Given the description of an element on the screen output the (x, y) to click on. 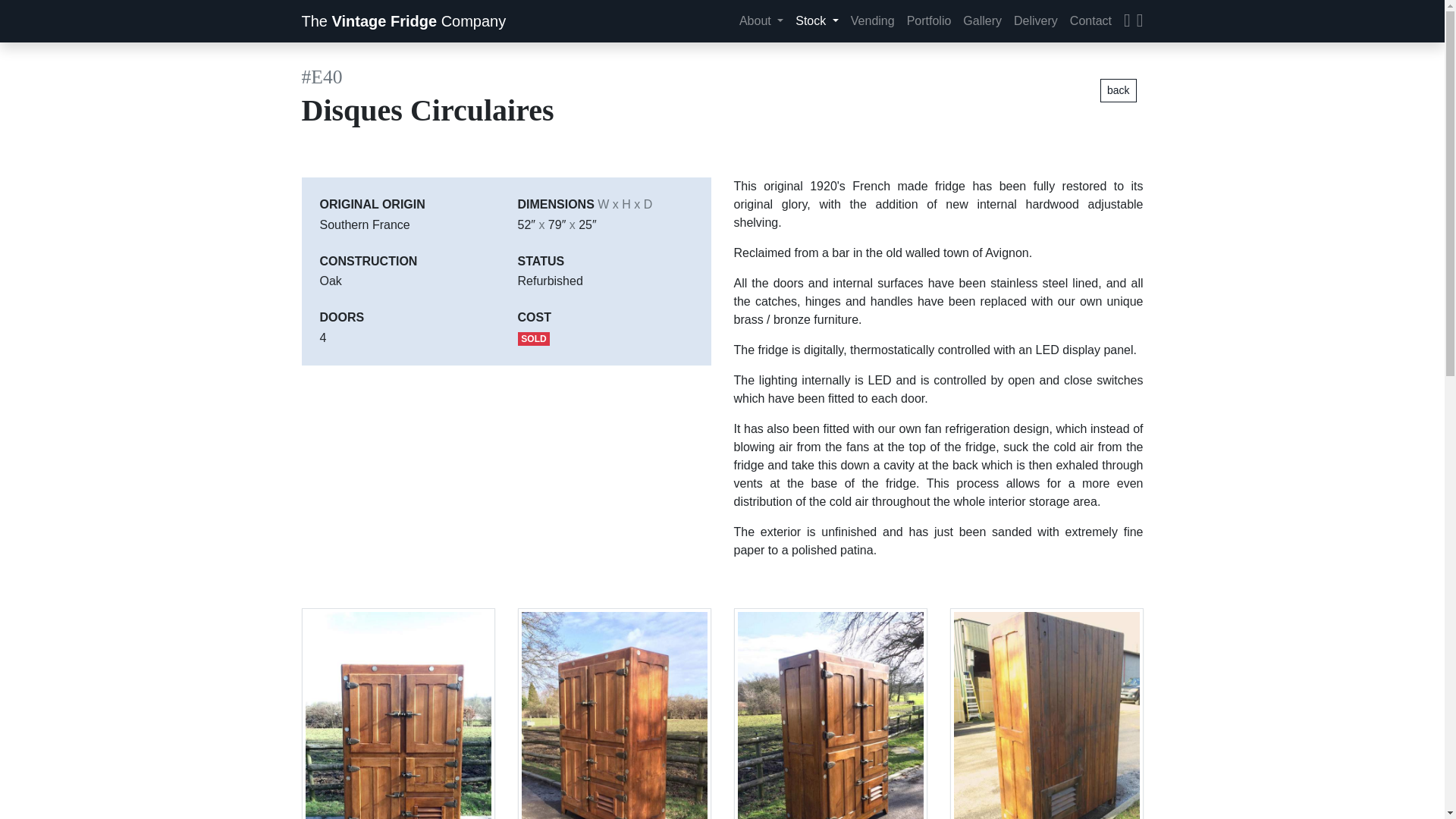
Vending (872, 20)
Gallery (981, 20)
back (1118, 90)
The Vintage Fridge Company (403, 20)
Portfolio (929, 20)
Stock (816, 20)
Contact (1091, 20)
Delivery (1035, 20)
Contact (1091, 20)
About (761, 20)
